Given the description of an element on the screen output the (x, y) to click on. 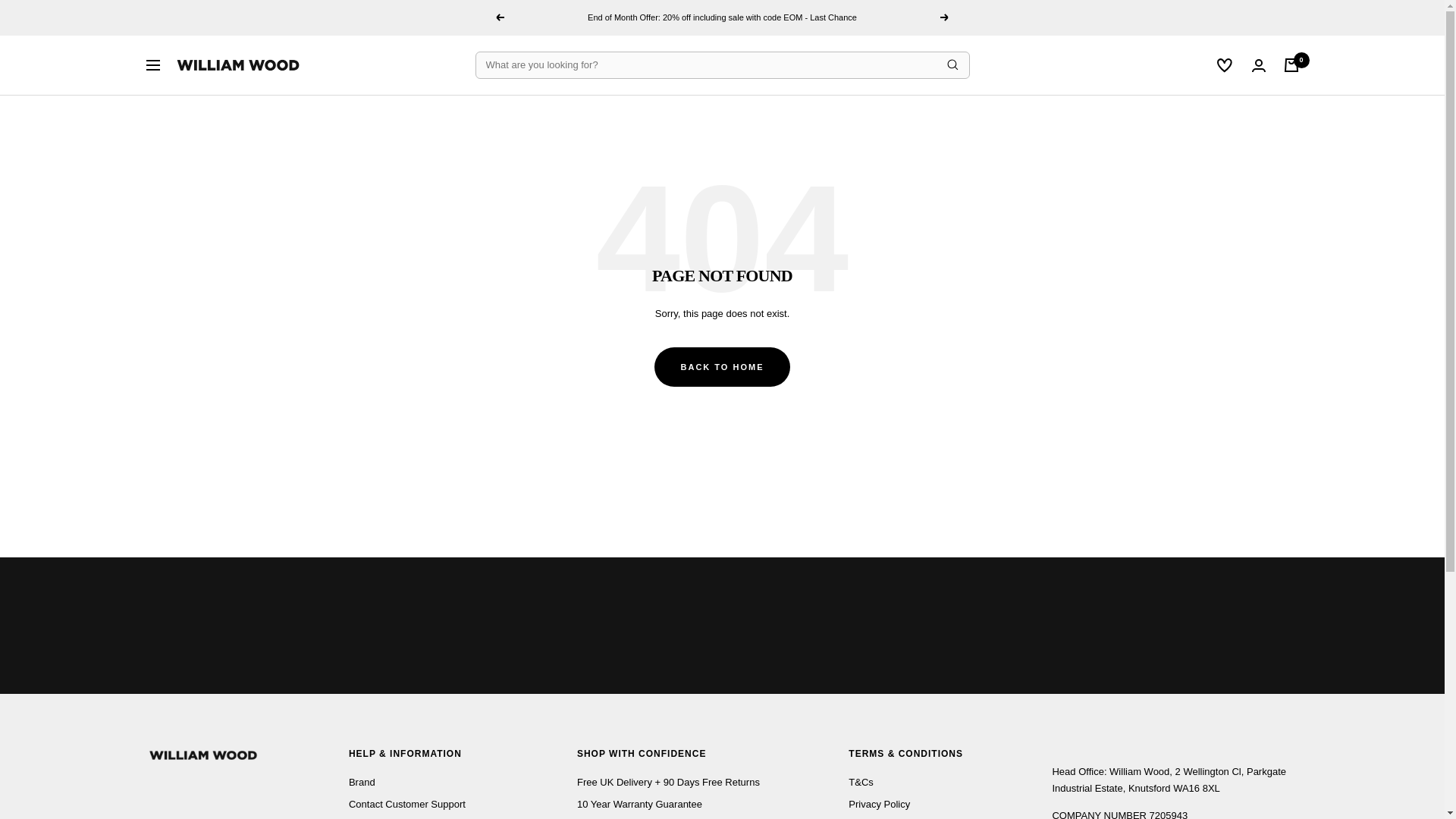
0 (1290, 65)
WILLIAM WOOD (237, 65)
Navigation (151, 64)
Next (944, 17)
Previous (499, 17)
